Given the description of an element on the screen output the (x, y) to click on. 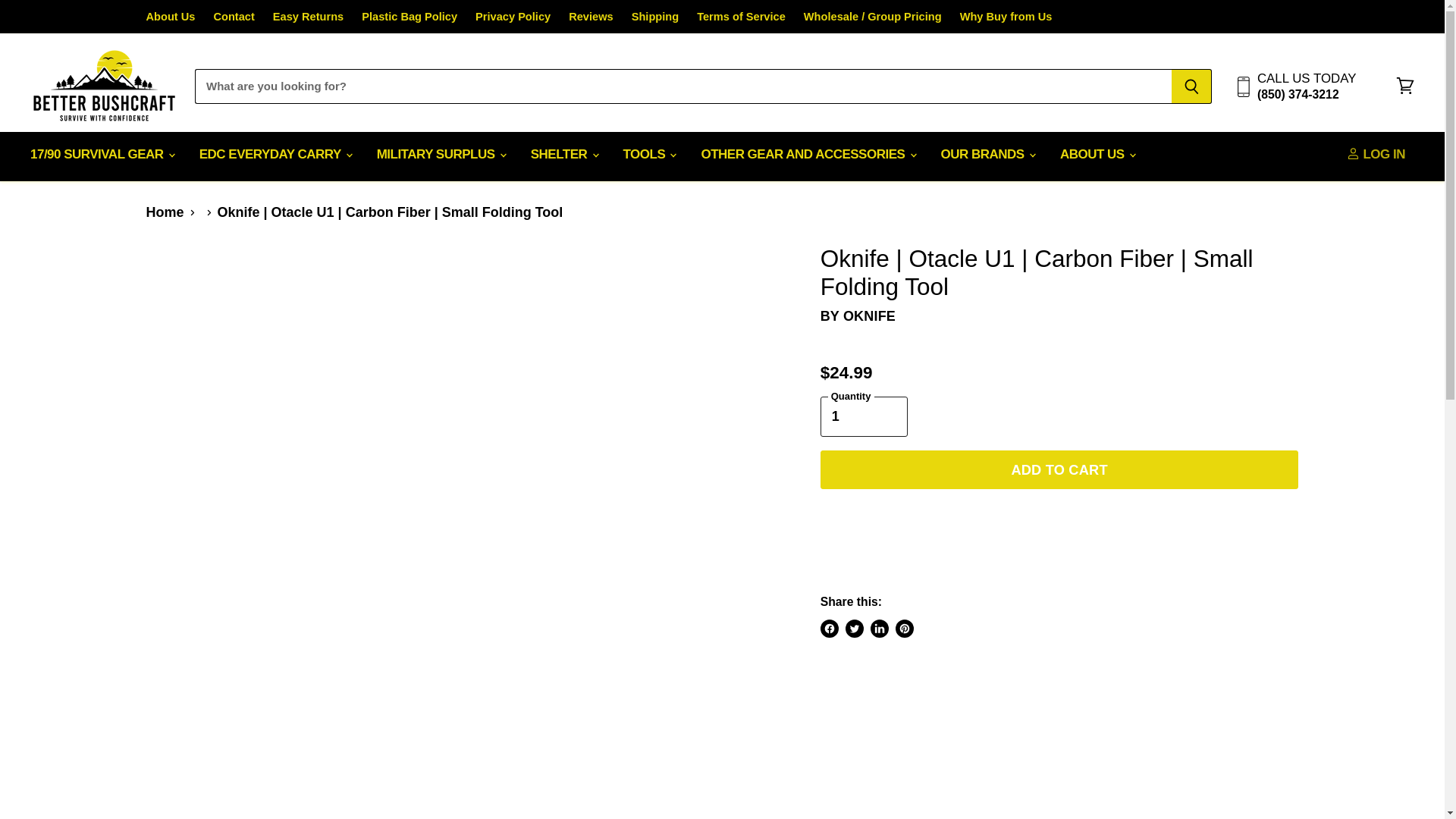
Reviews (590, 16)
Plastic Bag Policy (409, 16)
Terms of Service (741, 16)
Easy Returns (308, 16)
Shipping (654, 16)
Contact (232, 16)
EDC EVERYDAY CARRY (274, 154)
Privacy Policy (513, 16)
View cart (1405, 86)
1 (864, 416)
